Given the description of an element on the screen output the (x, y) to click on. 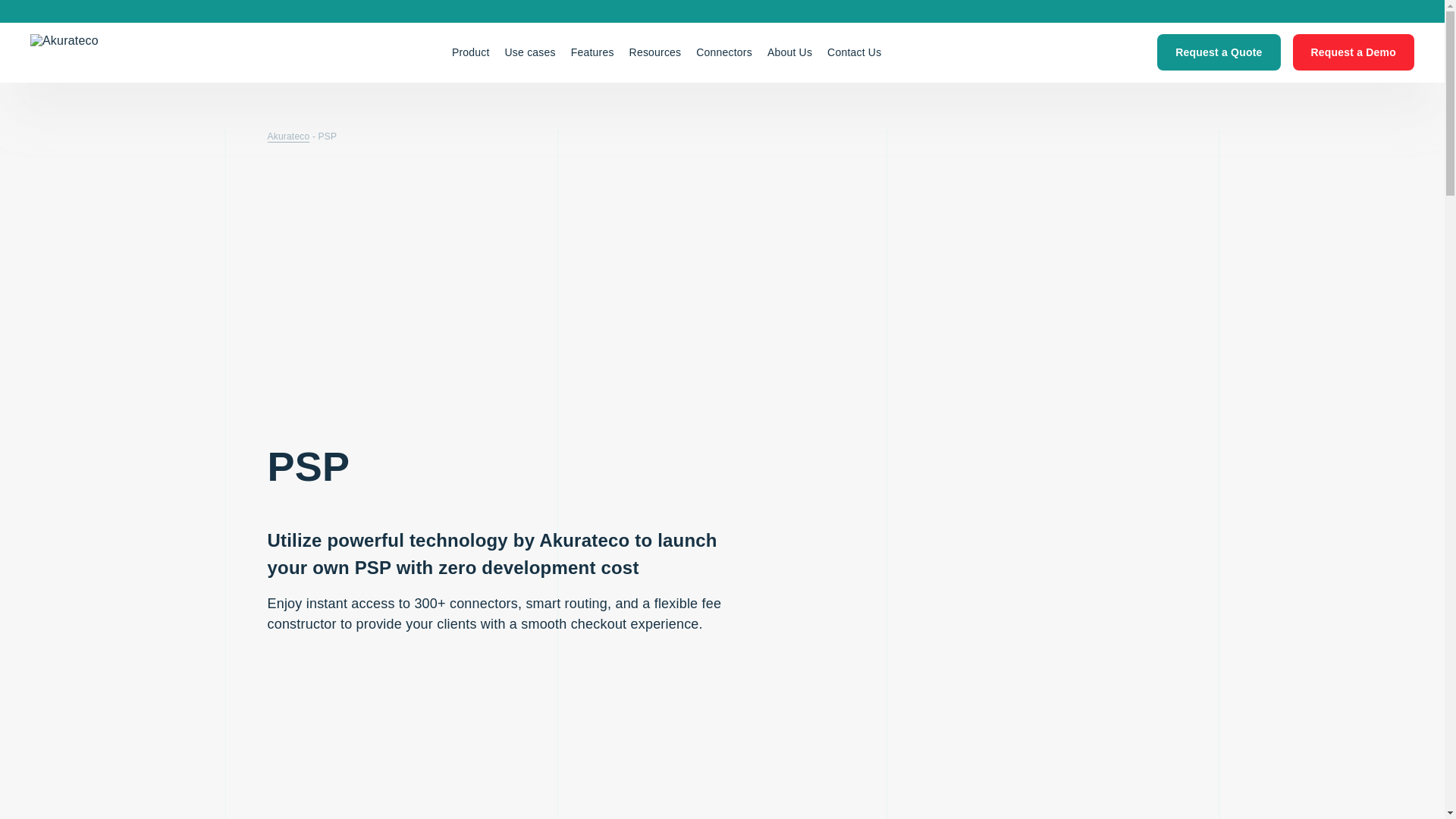
Akurateco (103, 51)
About Us (789, 51)
Request a Demo (1352, 52)
Contact Us (853, 51)
Connectors (724, 51)
Request a Quote (1218, 52)
